Given the description of an element on the screen output the (x, y) to click on. 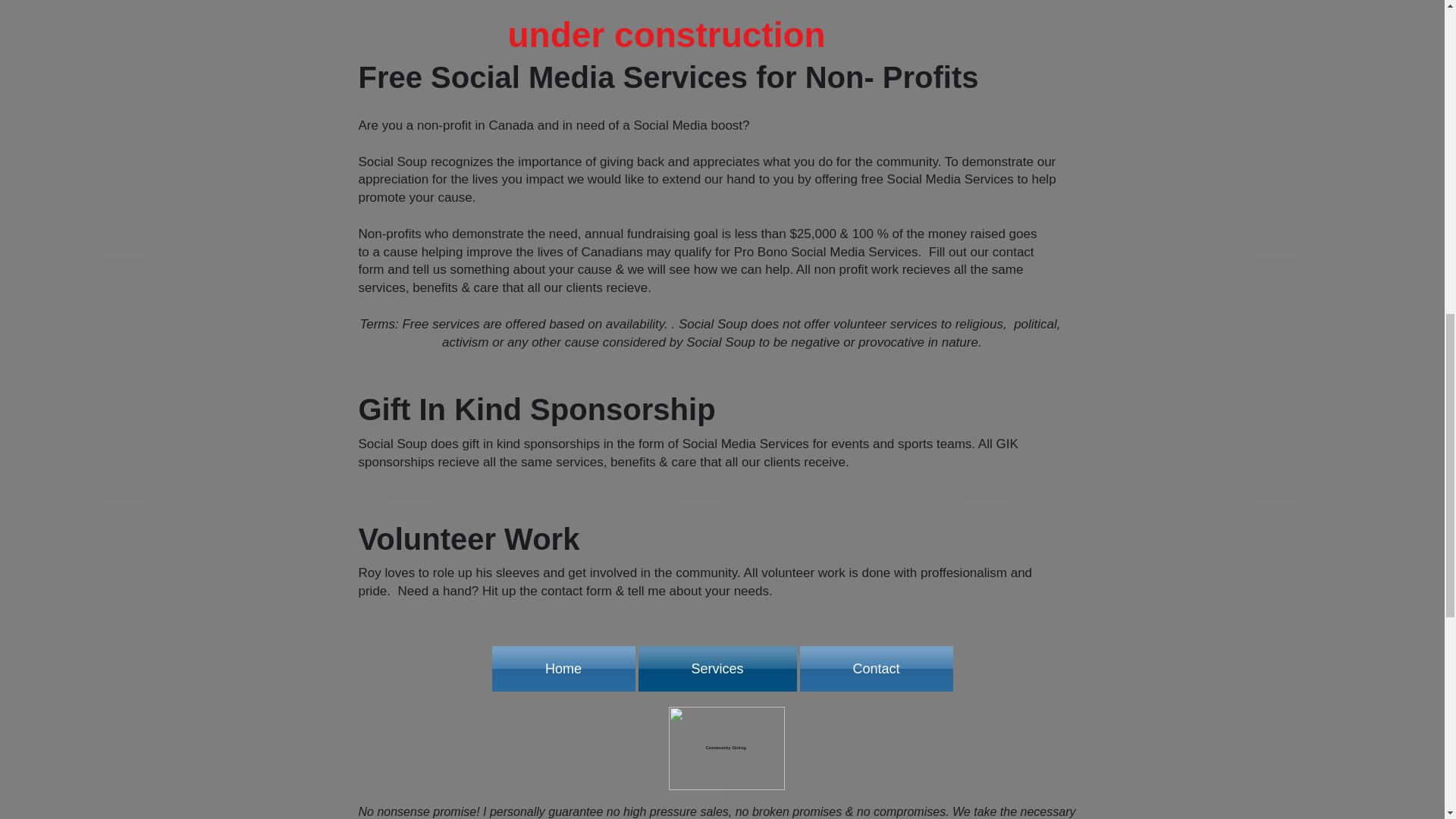
Services (717, 668)
Contact (874, 668)
Home (564, 668)
